Given the description of an element on the screen output the (x, y) to click on. 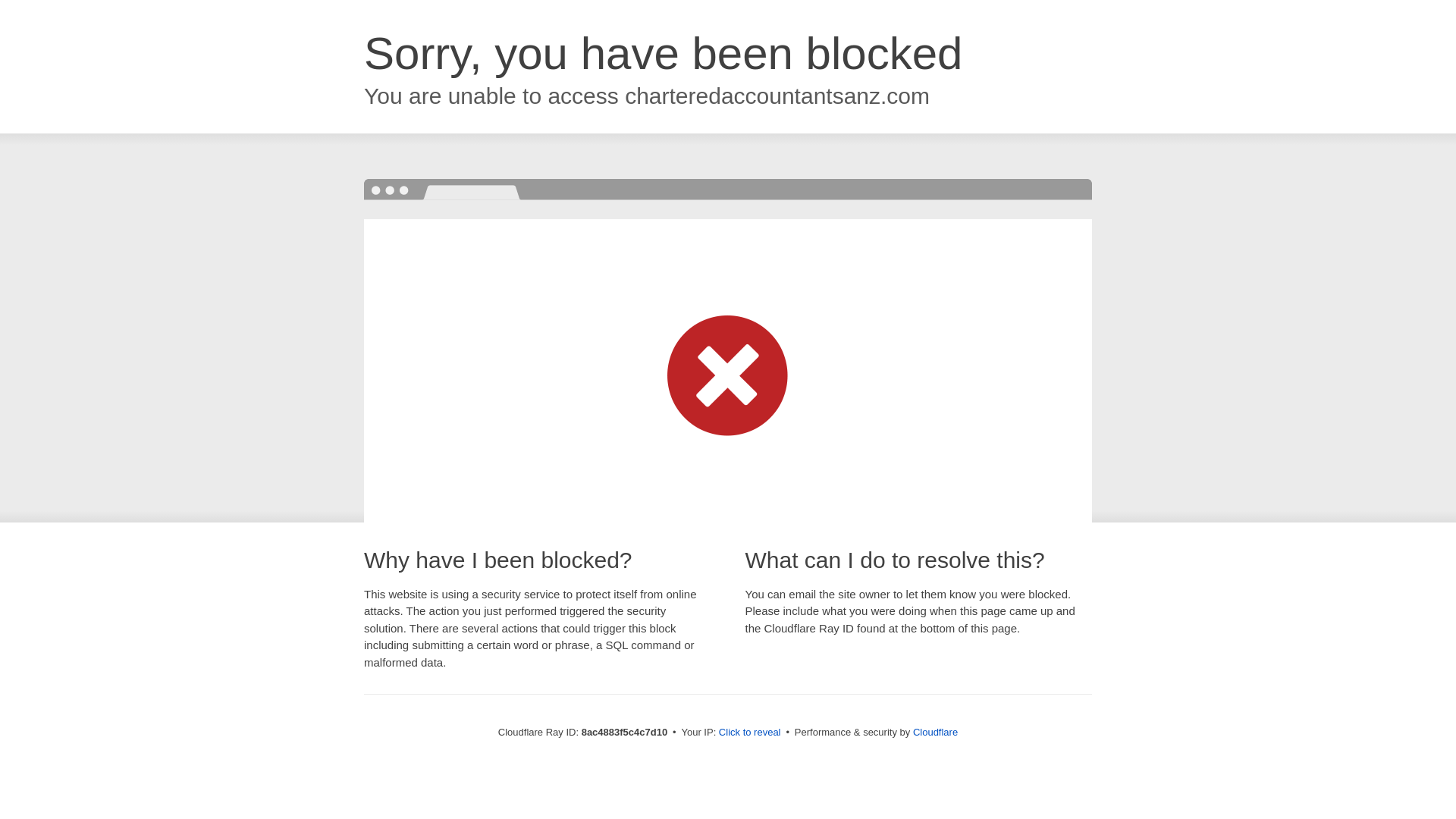
Cloudflare (935, 731)
Click to reveal (749, 732)
